Given the description of an element on the screen output the (x, y) to click on. 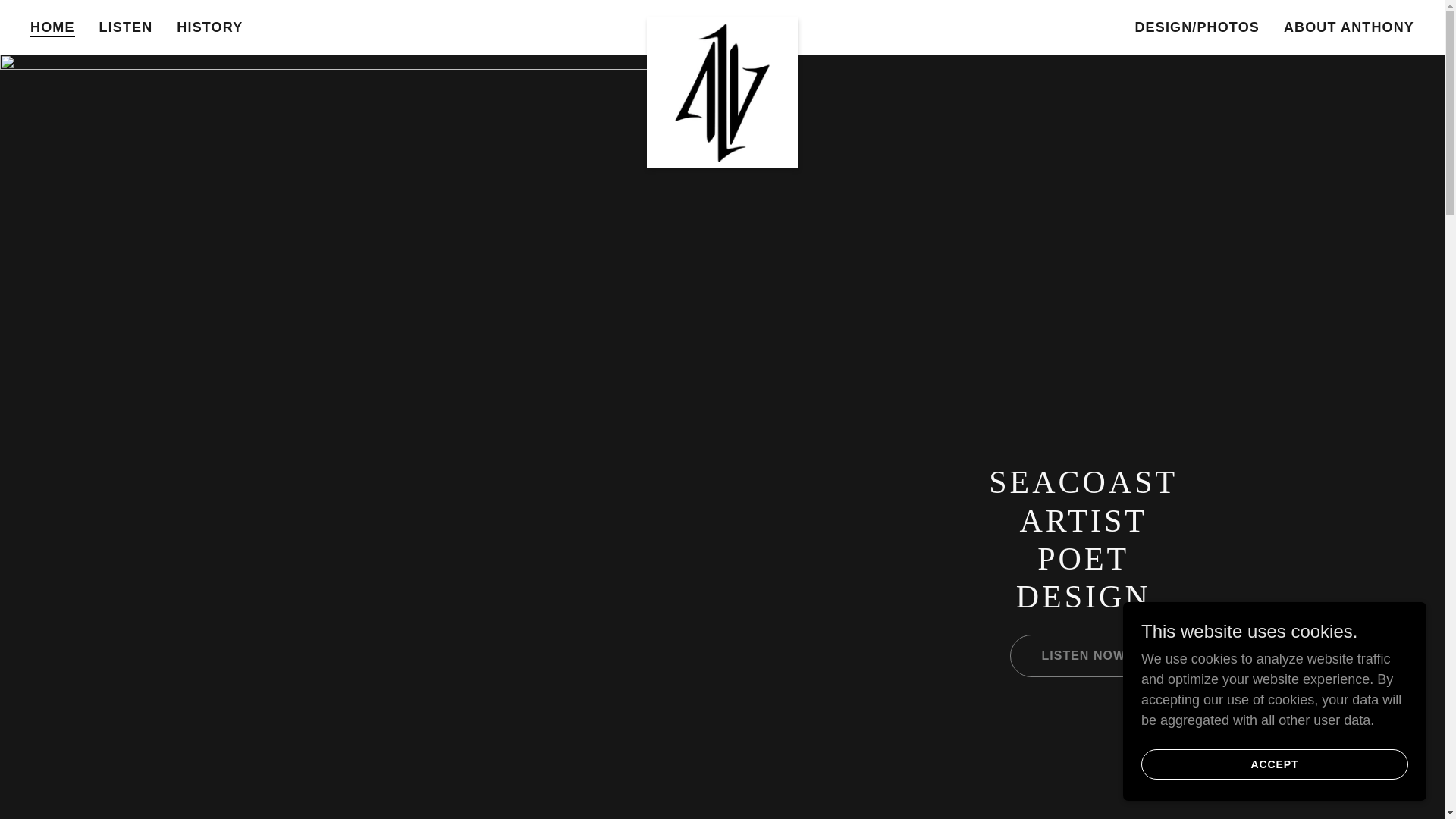
HOME (52, 27)
ABOUT ANTHONY (1348, 26)
ACCEPT (1274, 764)
HISTORY (209, 26)
LISTEN (125, 26)
LISTEN NOW (1083, 655)
